Given the description of an element on the screen output the (x, y) to click on. 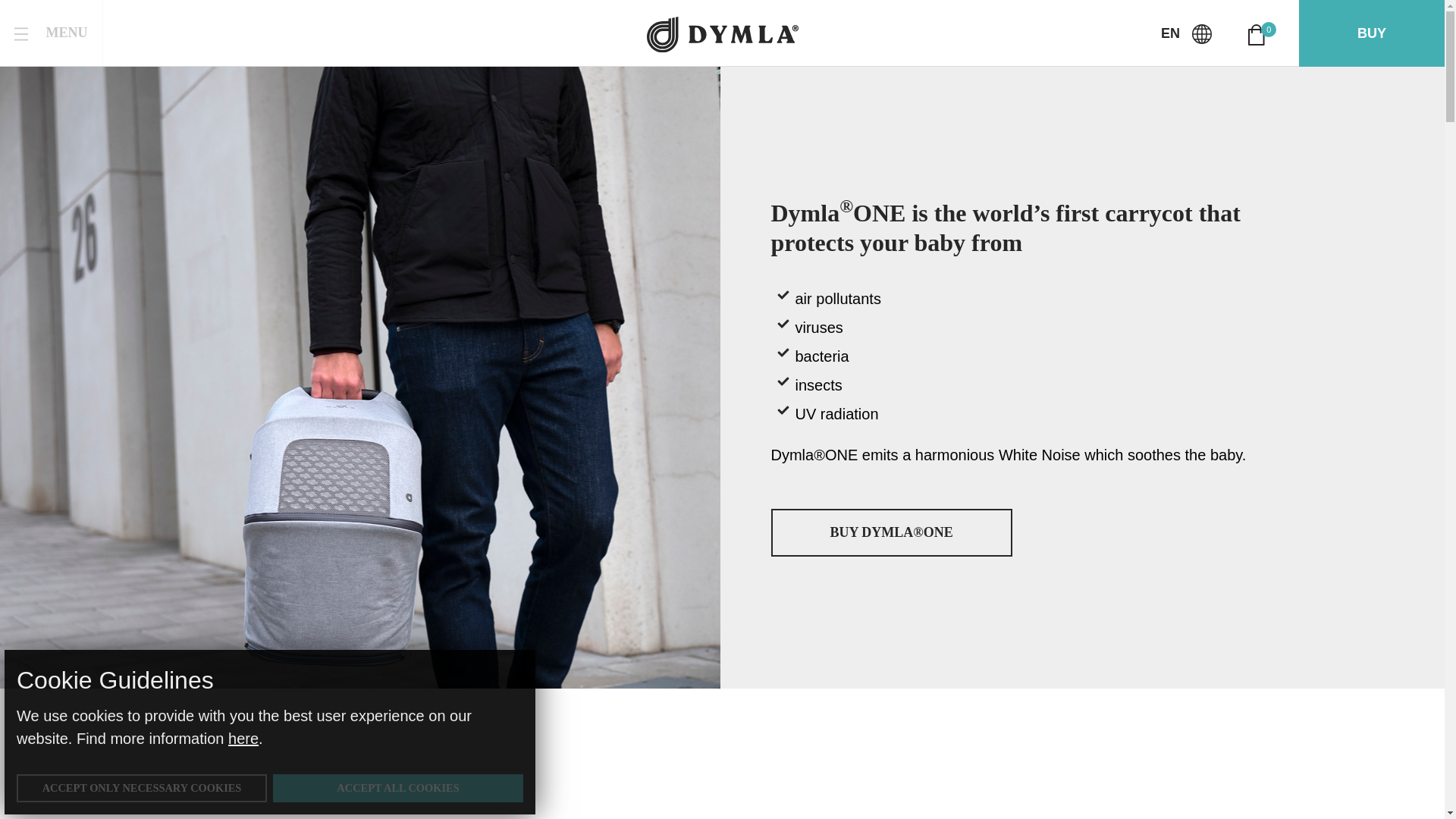
Dymla company logo (51, 33)
